Given the description of an element on the screen output the (x, y) to click on. 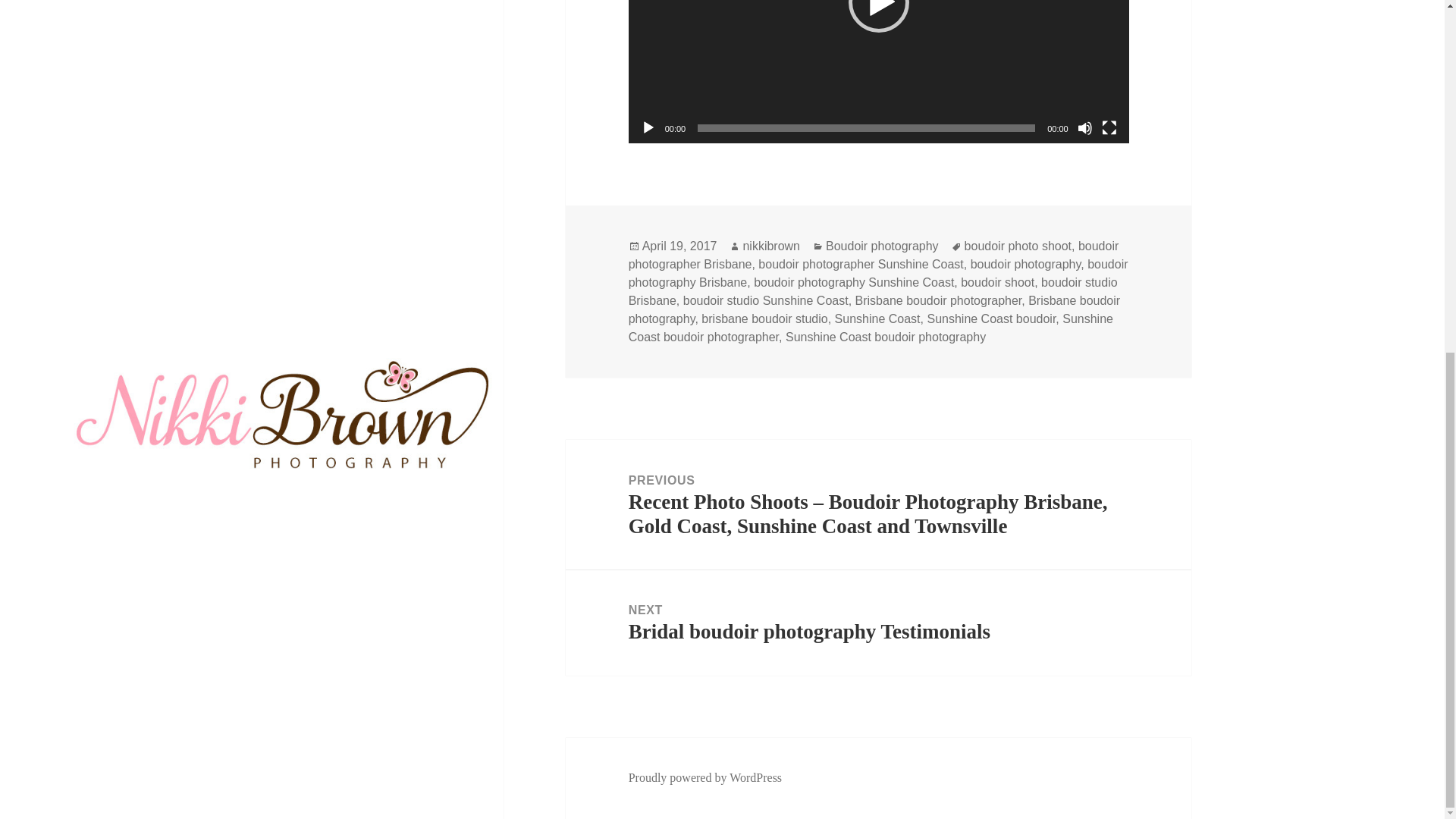
Play (648, 127)
boudoir photo shoot (1017, 246)
boudoir photographer Sunshine Coast (860, 264)
Fullscreen (1109, 127)
Boudoir photography (882, 246)
boudoir photography Brisbane (878, 273)
nikkibrown (770, 246)
Sunshine Coast boudoir photographer (870, 327)
Sunshine Coast boudoir photography (885, 336)
April 19, 2017 (679, 246)
boudoir shoot (996, 282)
boudoir photographer Brisbane (873, 255)
boudoir studio Sunshine Coast (765, 300)
boudoir photography Sunshine Coast (878, 622)
